Given the description of an element on the screen output the (x, y) to click on. 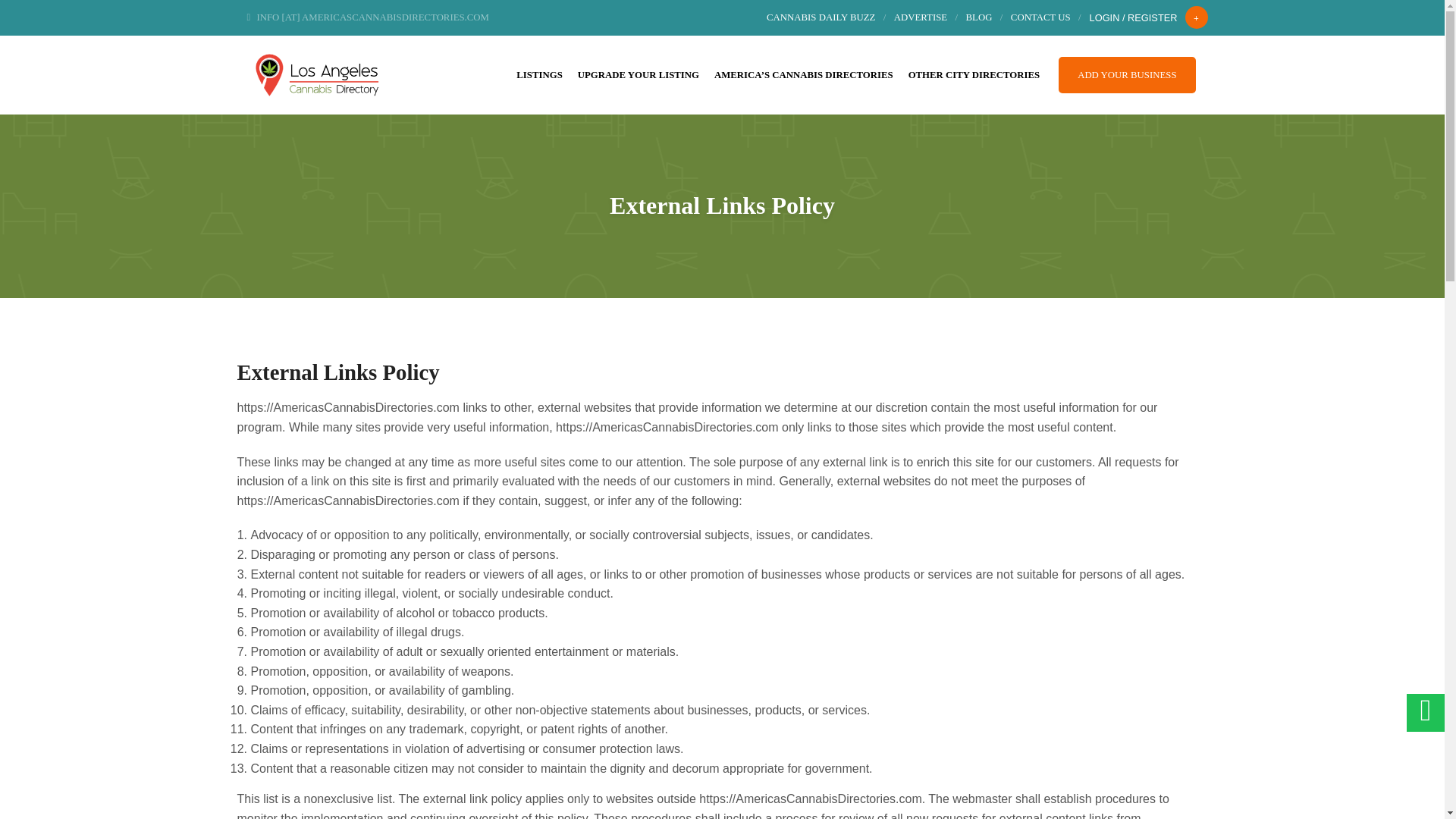
CONTACT US (1040, 17)
OTHER CITY DIRECTORIES (974, 74)
CANNABIS DAILY BUZZ (821, 17)
ADVERTISE (920, 17)
LISTINGS (538, 74)
UPGRADE YOUR LISTING (638, 74)
